Given the description of an element on the screen output the (x, y) to click on. 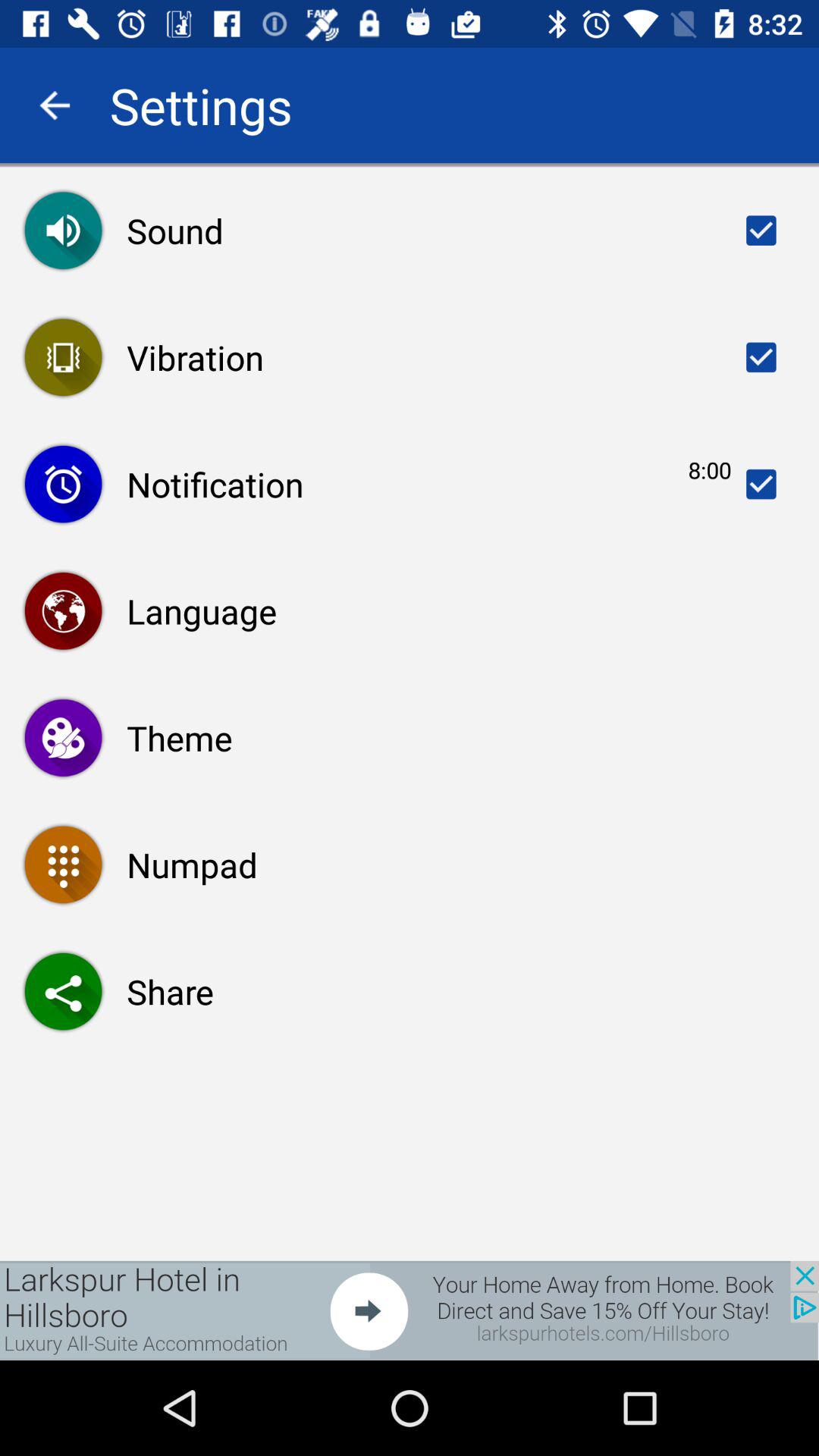
select the vibration (761, 357)
